Given the description of an element on the screen output the (x, y) to click on. 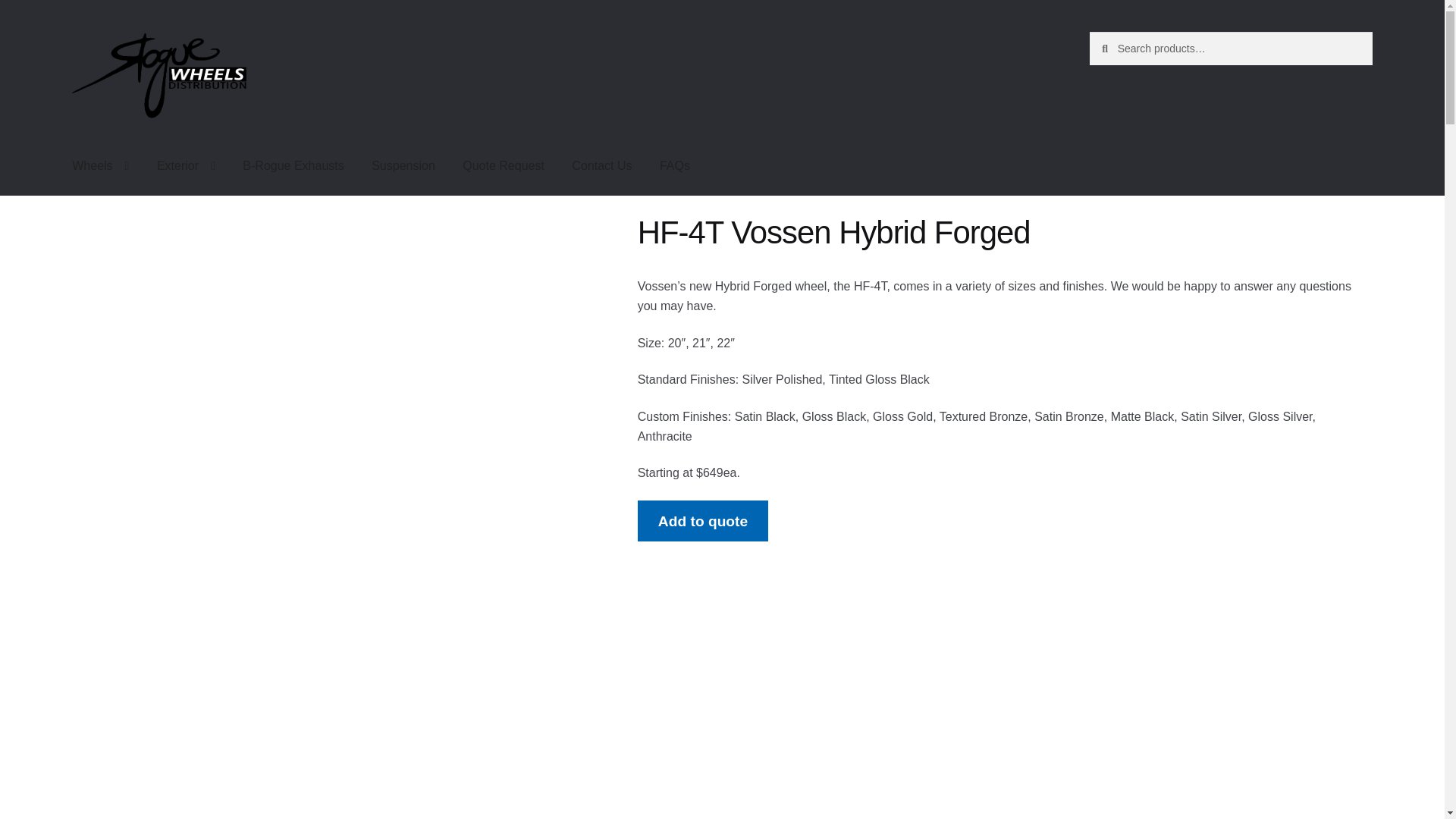
Exterior (185, 165)
B-Rogue Exhausts (292, 165)
Suspension (402, 165)
Wheels (100, 165)
FAQs (674, 165)
Contact Us (601, 165)
Quote Request (502, 165)
